Given the description of an element on the screen output the (x, y) to click on. 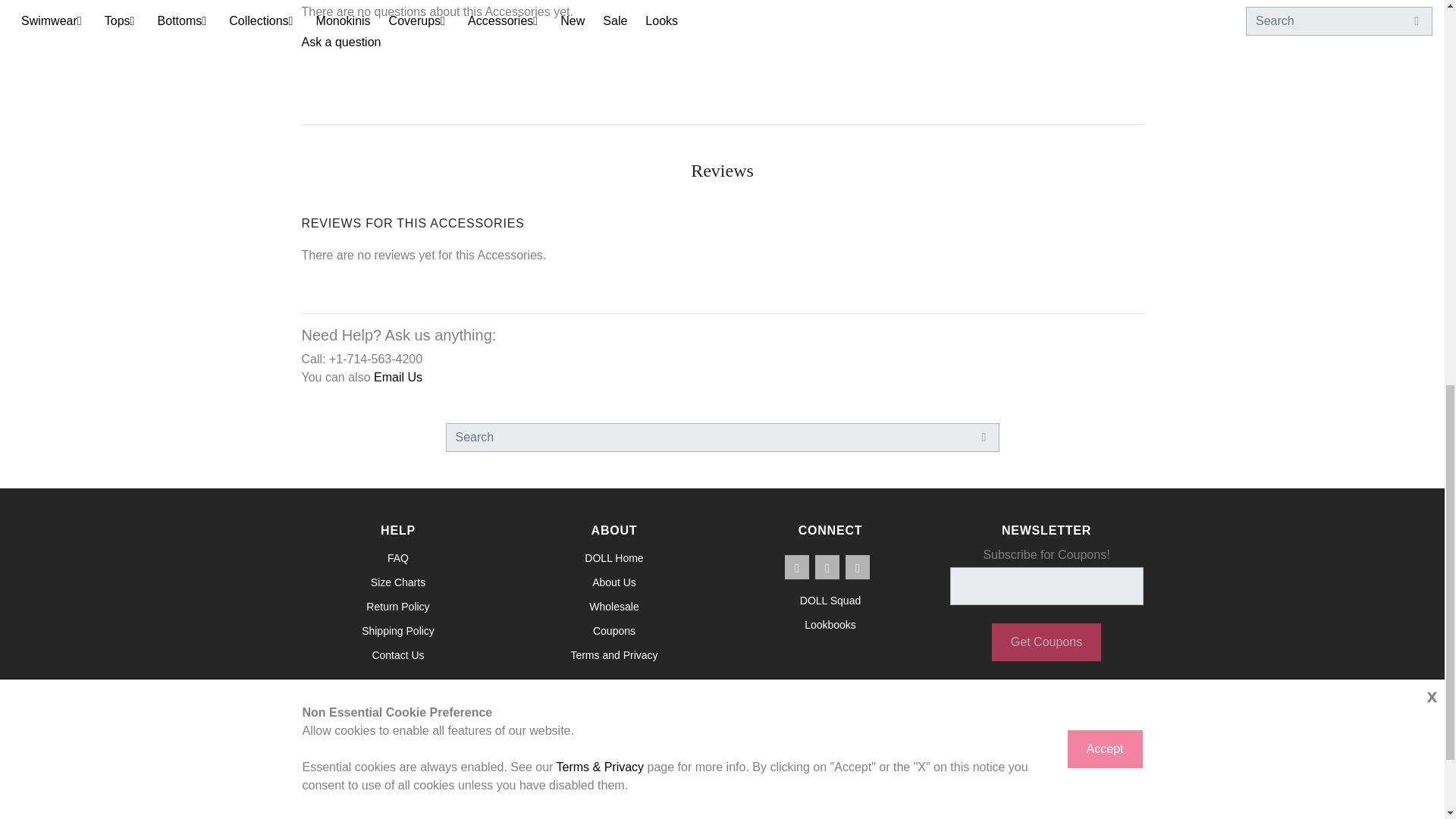
Get Coupons (1045, 641)
